Given the description of an element on the screen output the (x, y) to click on. 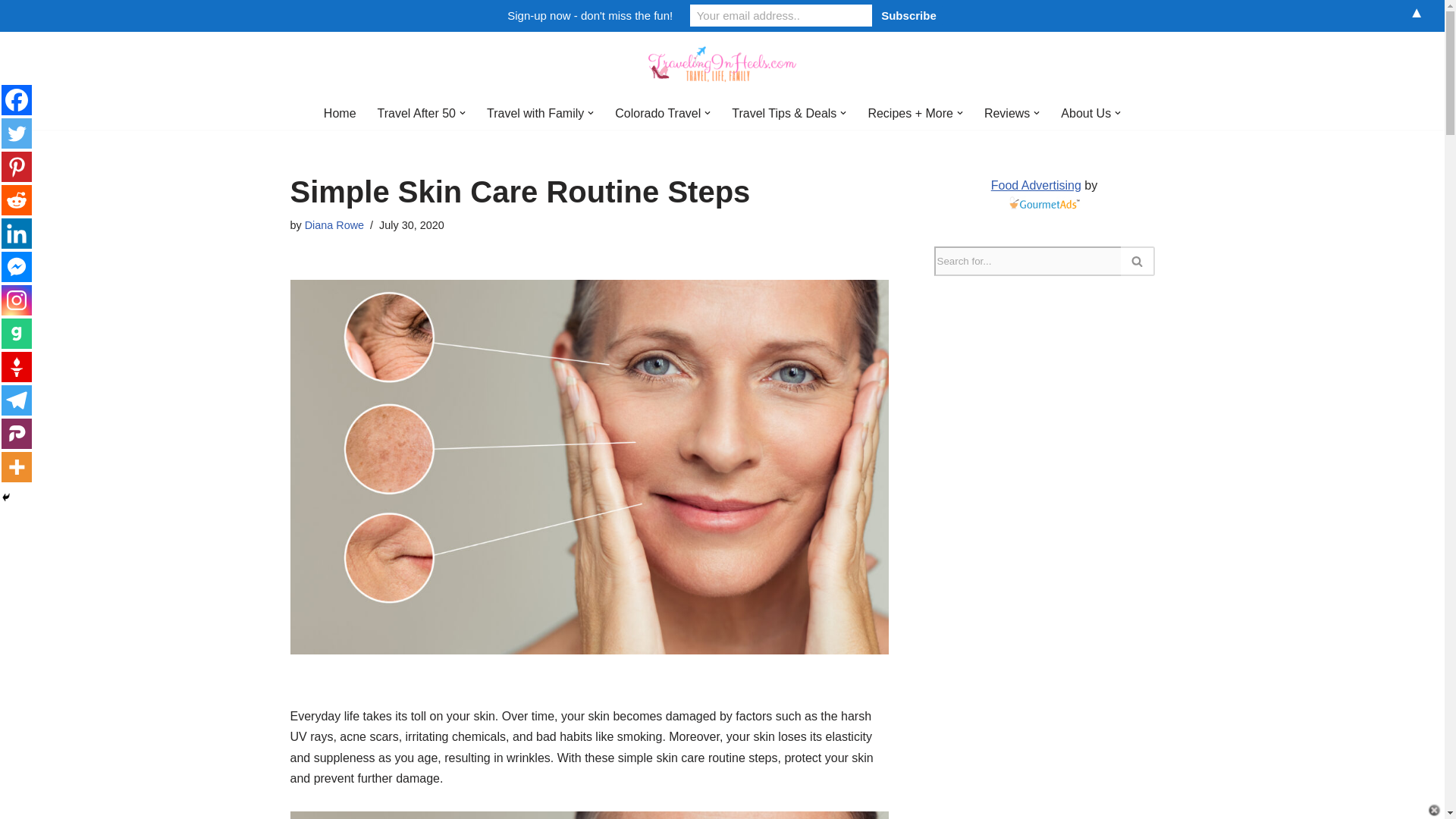
Travel After 50 (416, 113)
Travel with Family (534, 113)
Pinterest (16, 166)
Reddit (16, 200)
Skip to content (11, 63)
Reviews (1006, 113)
Facebook (16, 100)
Twitter (16, 132)
Colorado Travel (657, 113)
About Us (1085, 113)
